Given the description of an element on the screen output the (x, y) to click on. 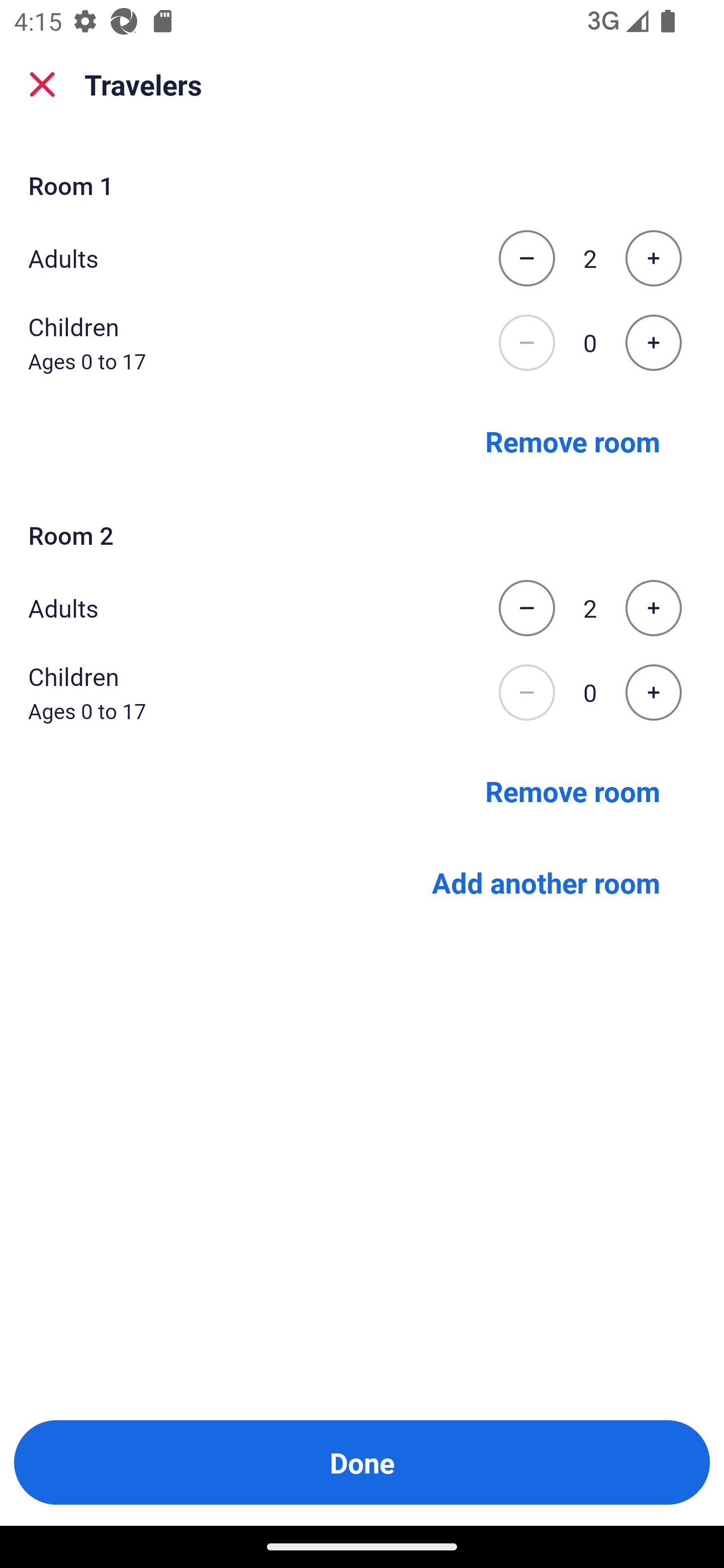
close (42, 84)
Decrease the number of adults (526, 258)
Increase the number of adults (653, 258)
Decrease the number of children (526, 343)
Increase the number of children (653, 343)
Remove room (572, 440)
Decrease the number of adults (526, 608)
Increase the number of adults (653, 608)
Decrease the number of children (526, 692)
Increase the number of children (653, 692)
Remove room (572, 790)
Add another room (545, 882)
Done (361, 1462)
